Given the description of an element on the screen output the (x, y) to click on. 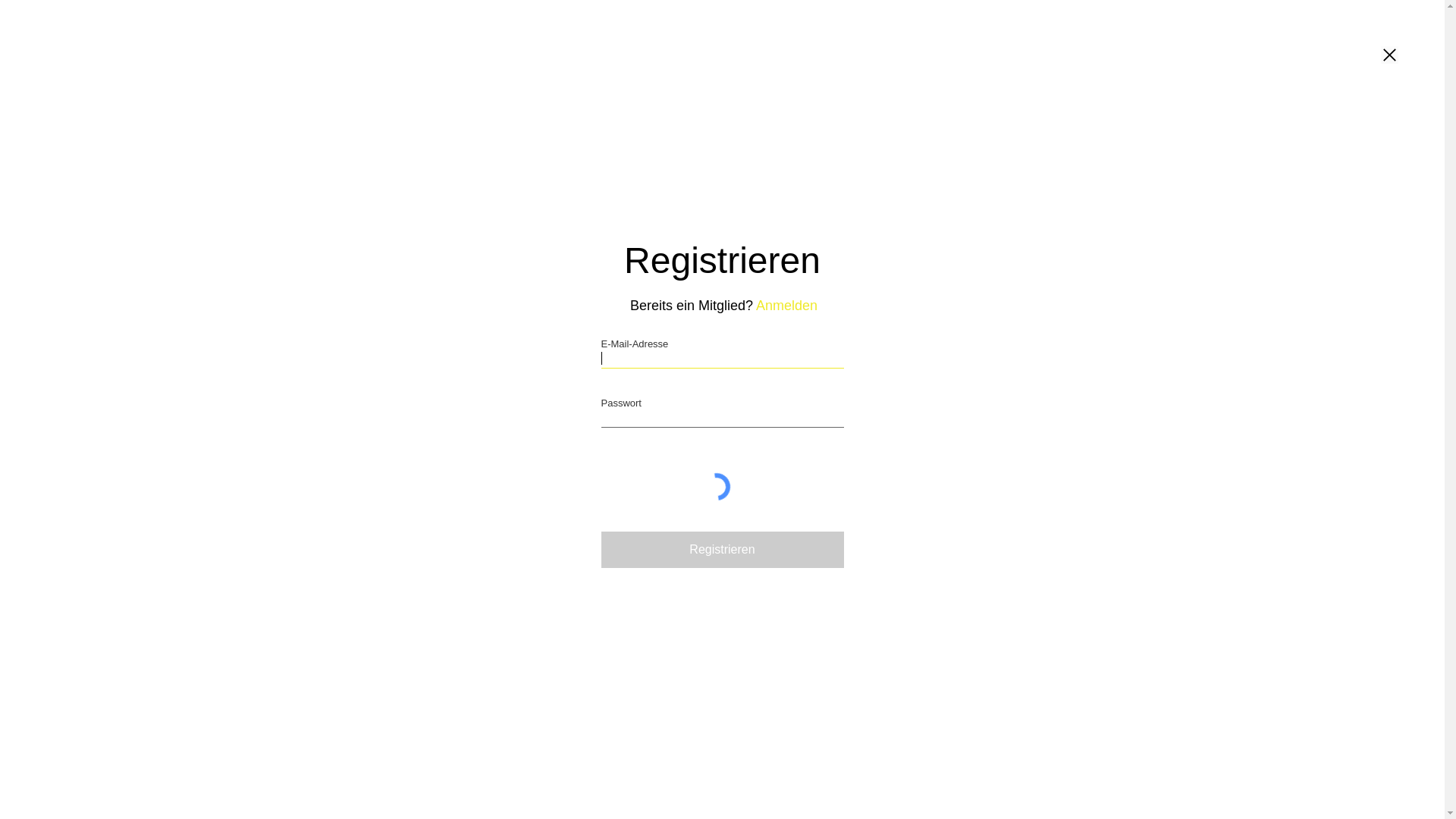
Anmelden Element type: text (786, 305)
Registrieren Element type: text (721, 549)
